Given the description of an element on the screen output the (x, y) to click on. 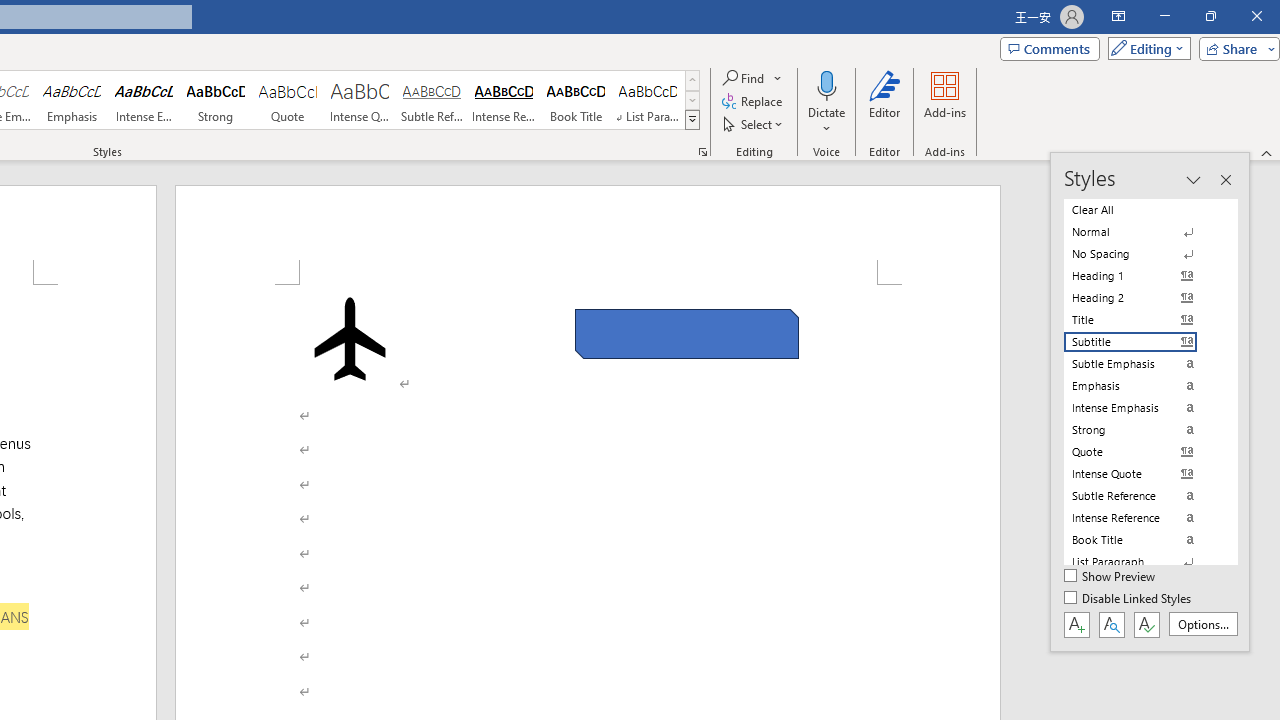
Rectangle: Diagonal Corners Snipped 2 (686, 333)
Intense Emphasis (143, 100)
Title (1142, 319)
Subtitle (1142, 341)
Disable Linked Styles (1129, 599)
Show Preview (1110, 577)
Quote (287, 100)
Emphasis (71, 100)
Strong (216, 100)
Intense Reference (504, 100)
